Given the description of an element on the screen output the (x, y) to click on. 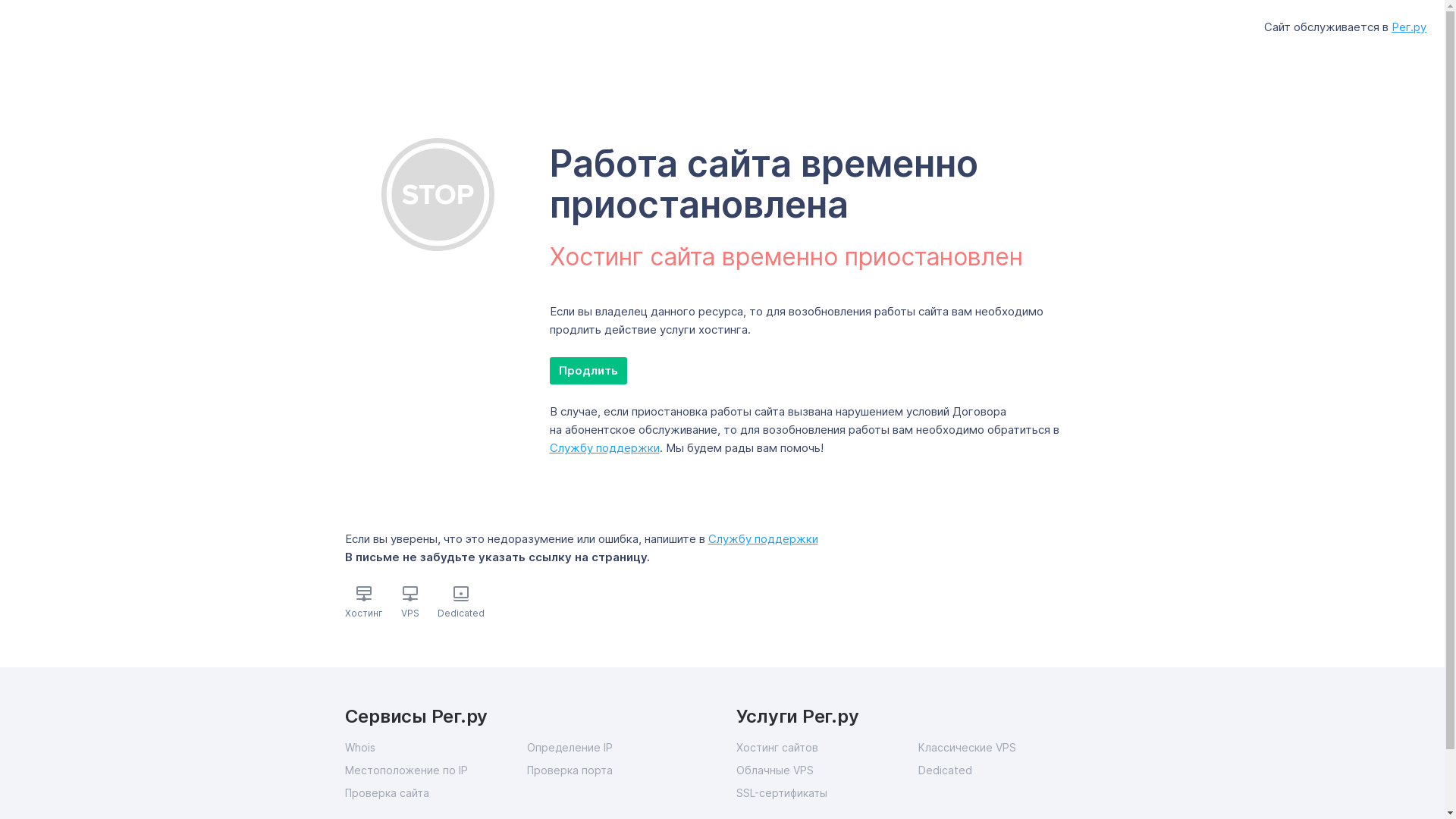
Dedicated Element type: text (1008, 770)
VPS Element type: text (409, 612)
Whois Element type: text (435, 747)
